Given the description of an element on the screen output the (x, y) to click on. 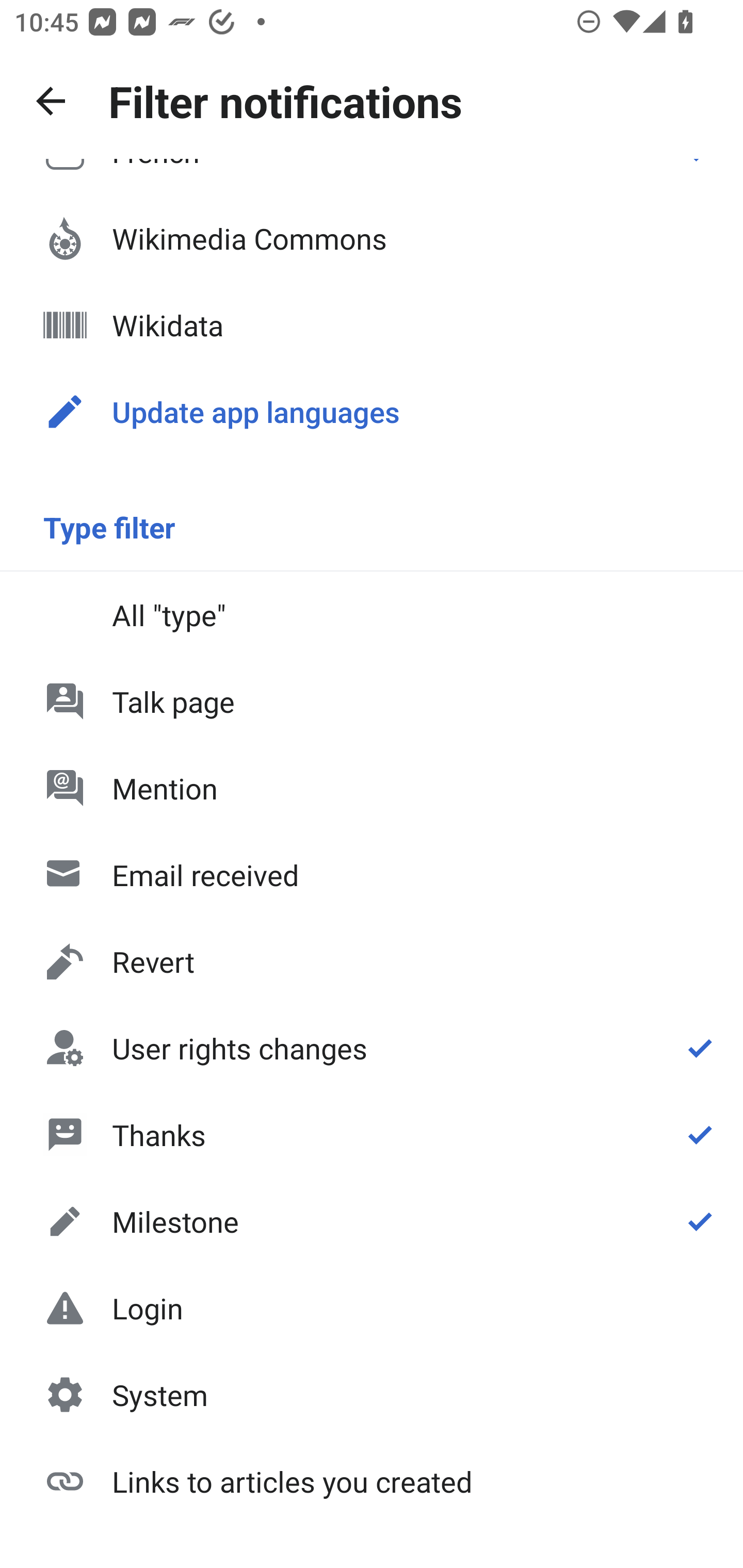
Navigate up (50, 101)
Wikimedia Commons (371, 238)
Wikidata (371, 325)
Update app languages (371, 411)
All "type" (371, 614)
Talk page (371, 701)
Mention (371, 787)
Email received (371, 874)
Revert (371, 961)
User rights changes (371, 1048)
Thanks (371, 1134)
Milestone (371, 1221)
Login (371, 1308)
System (371, 1394)
Links to articles you created (371, 1480)
